Given the description of an element on the screen output the (x, y) to click on. 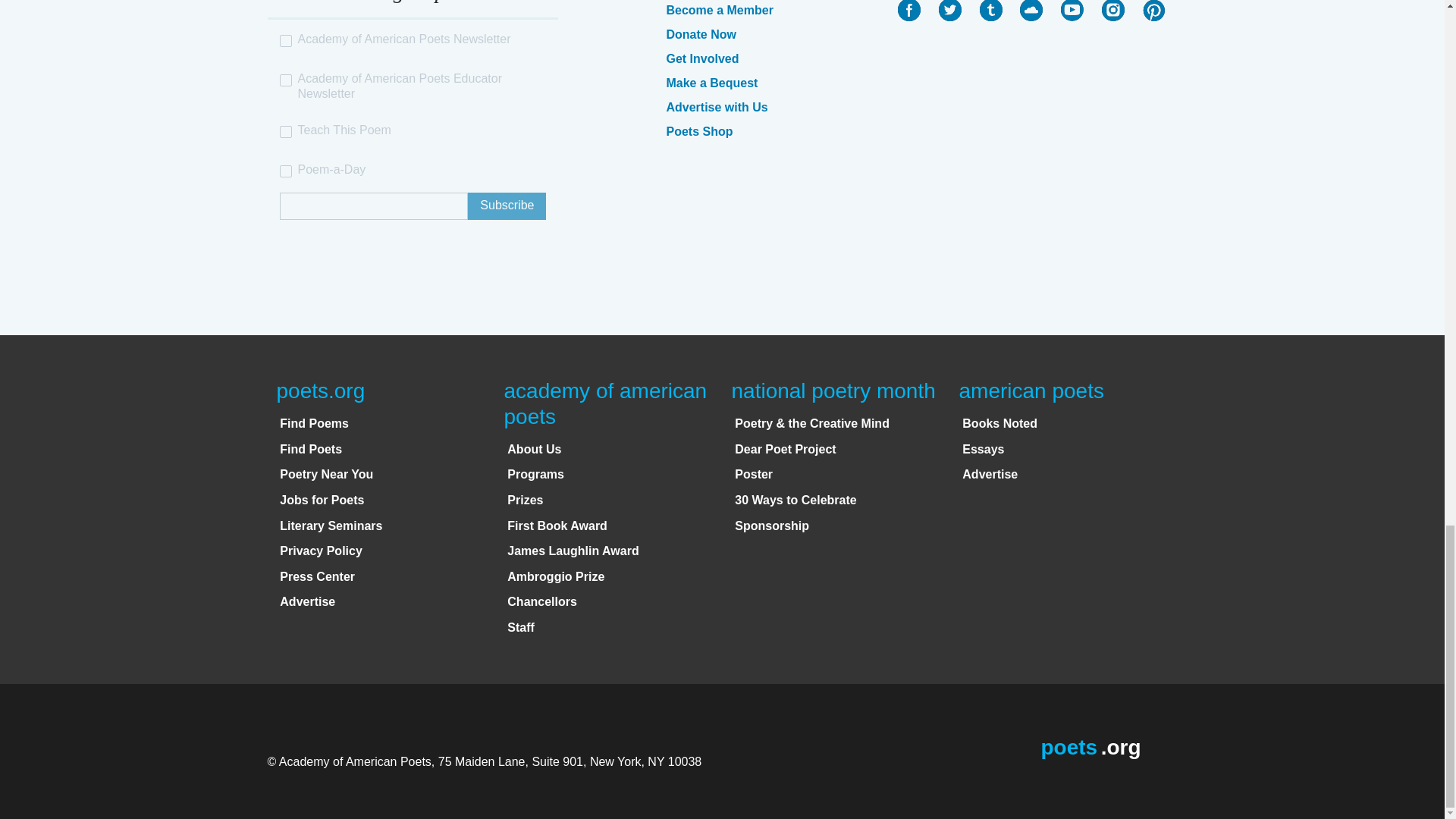
Subscribe (506, 206)
Literary Seminars (330, 525)
Press Center (317, 576)
Jobs for Poets (321, 499)
Privacy Policy (320, 550)
Poetry Near You (325, 473)
